Given the description of an element on the screen output the (x, y) to click on. 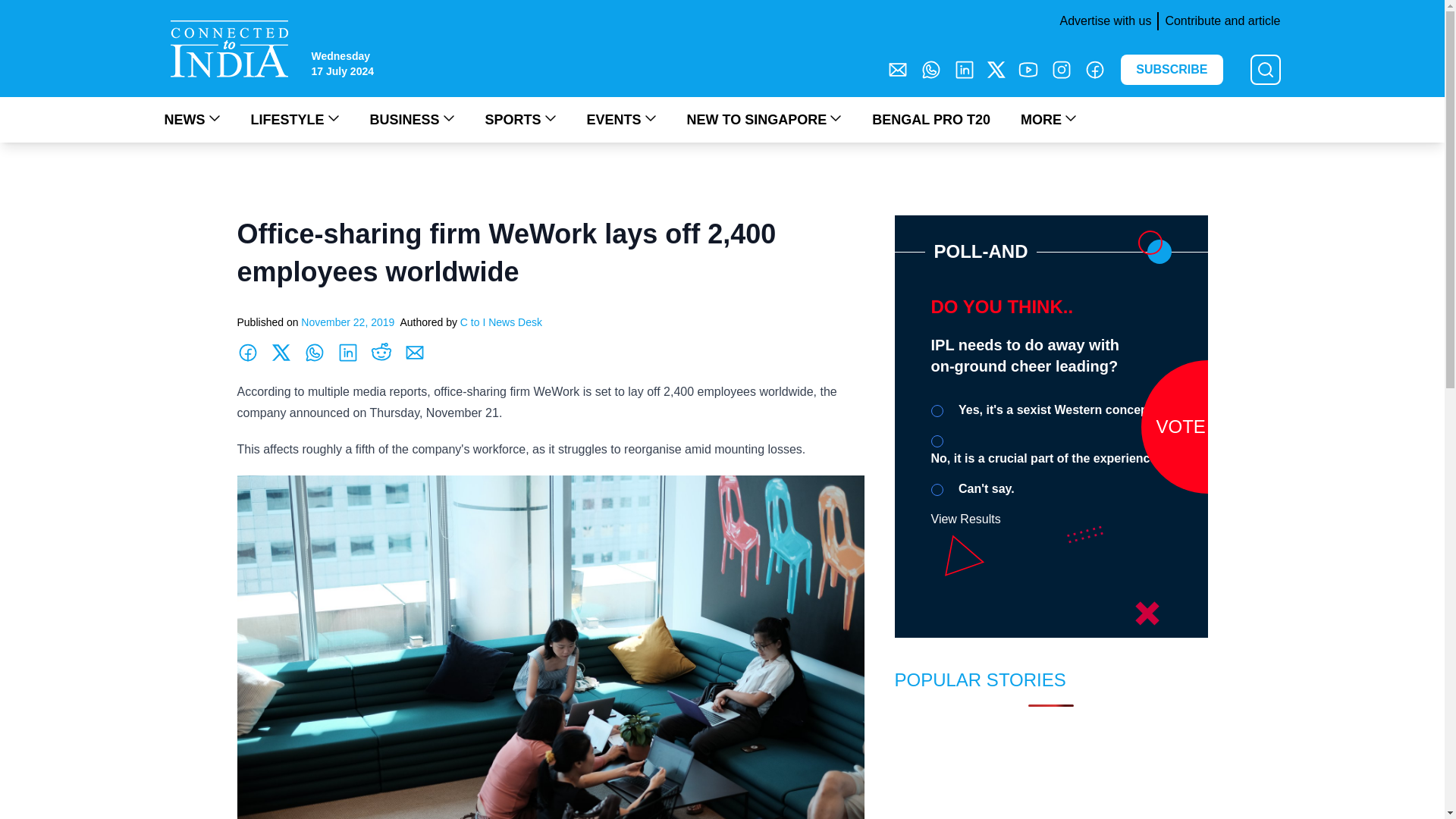
Contribute and article (1218, 21)
View Results Of This Poll (966, 518)
NEWS (191, 119)
Search (19, 9)
Email us (897, 69)
Facebook (1094, 69)
   Vote    (1207, 426)
SPORTS (520, 119)
Youtube (1028, 69)
Tweeter (996, 69)
SUBSCRIBE (1172, 69)
Advertise with us (1101, 21)
BUSINESS (411, 119)
Instagram (1061, 69)
